Given the description of an element on the screen output the (x, y) to click on. 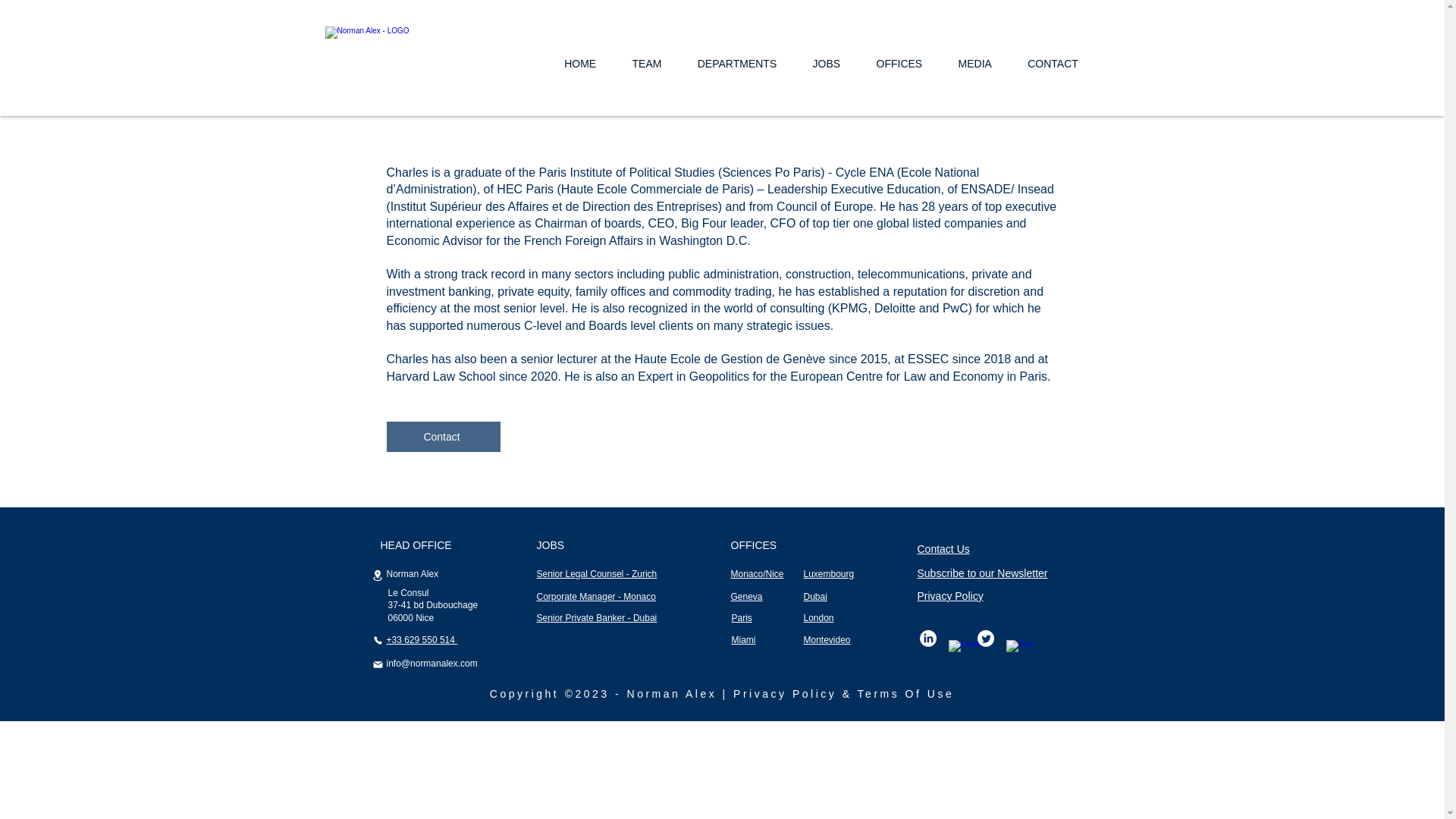
Subscribe to our Newsletter (982, 573)
CONTACT (1053, 62)
OFFICES (899, 62)
Contact (443, 436)
JOBS (826, 62)
Luxembourg (828, 573)
London (818, 617)
Montevideo (826, 639)
HOME (579, 62)
TEAM (647, 62)
Geneva (746, 596)
Dubai (815, 596)
Paris (740, 617)
Senior Legal Counsel - Zurich (597, 573)
Contact Us (943, 548)
